Given the description of an element on the screen output the (x, y) to click on. 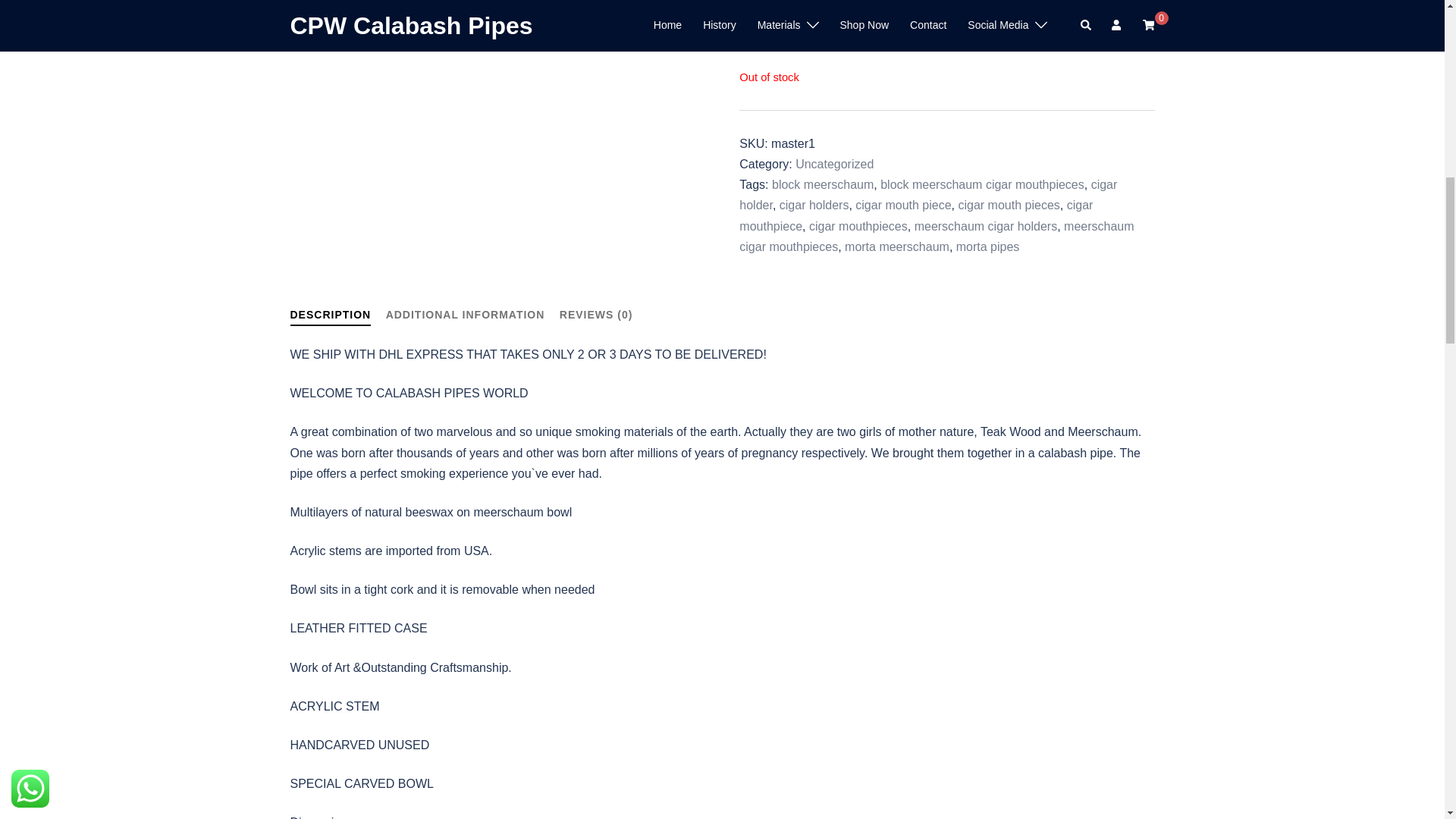
Uncategorized (833, 164)
